Given the description of an element on the screen output the (x, y) to click on. 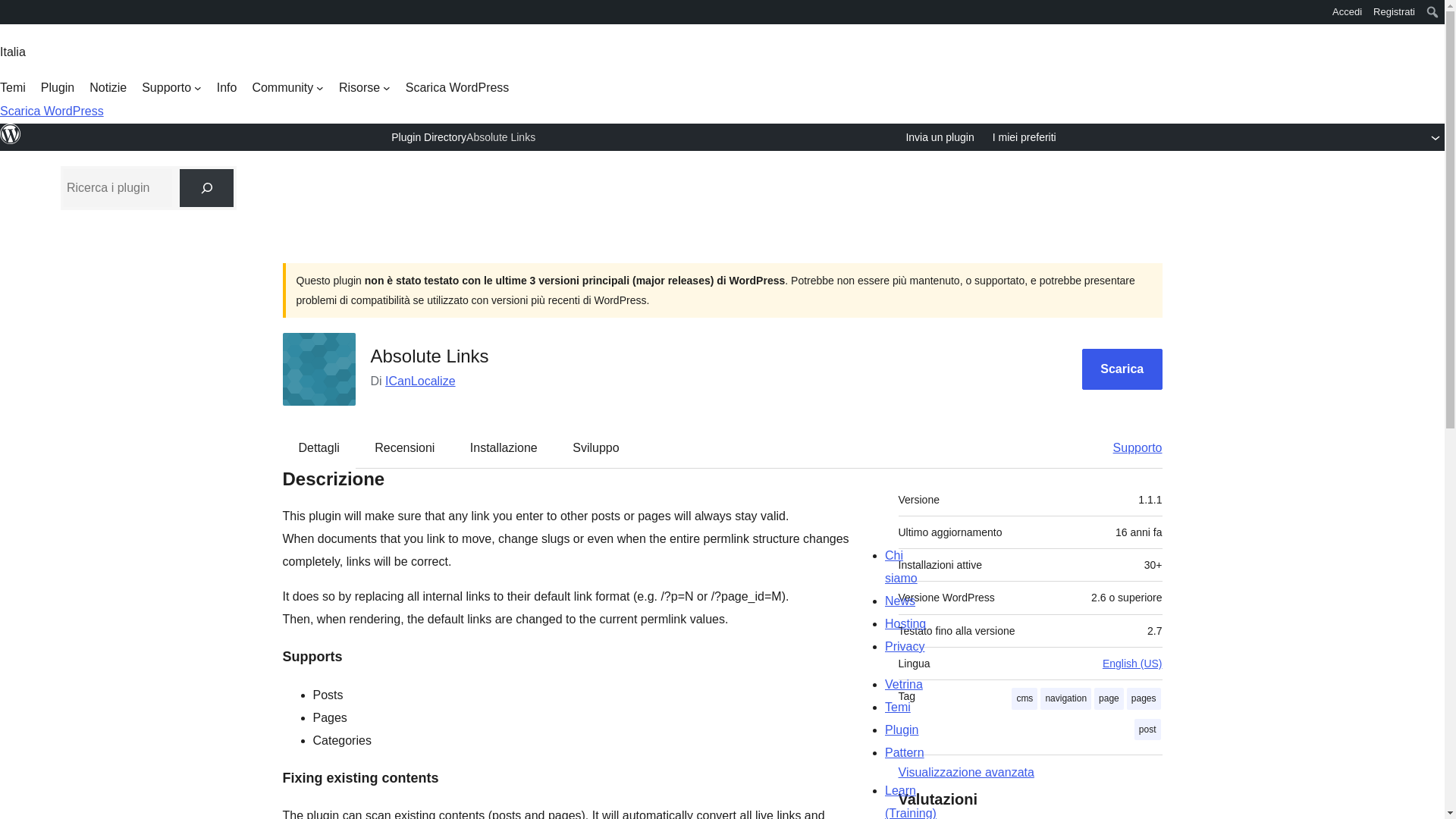
Supporto (171, 87)
WordPress.org (10, 10)
WordPress.org (10, 16)
Temi (13, 87)
Plugin (57, 87)
Absolute Links (500, 137)
Notizie (107, 87)
Scarica WordPress (457, 87)
WordPress.org (10, 133)
Registrati (1394, 12)
